Given the description of an element on the screen output the (x, y) to click on. 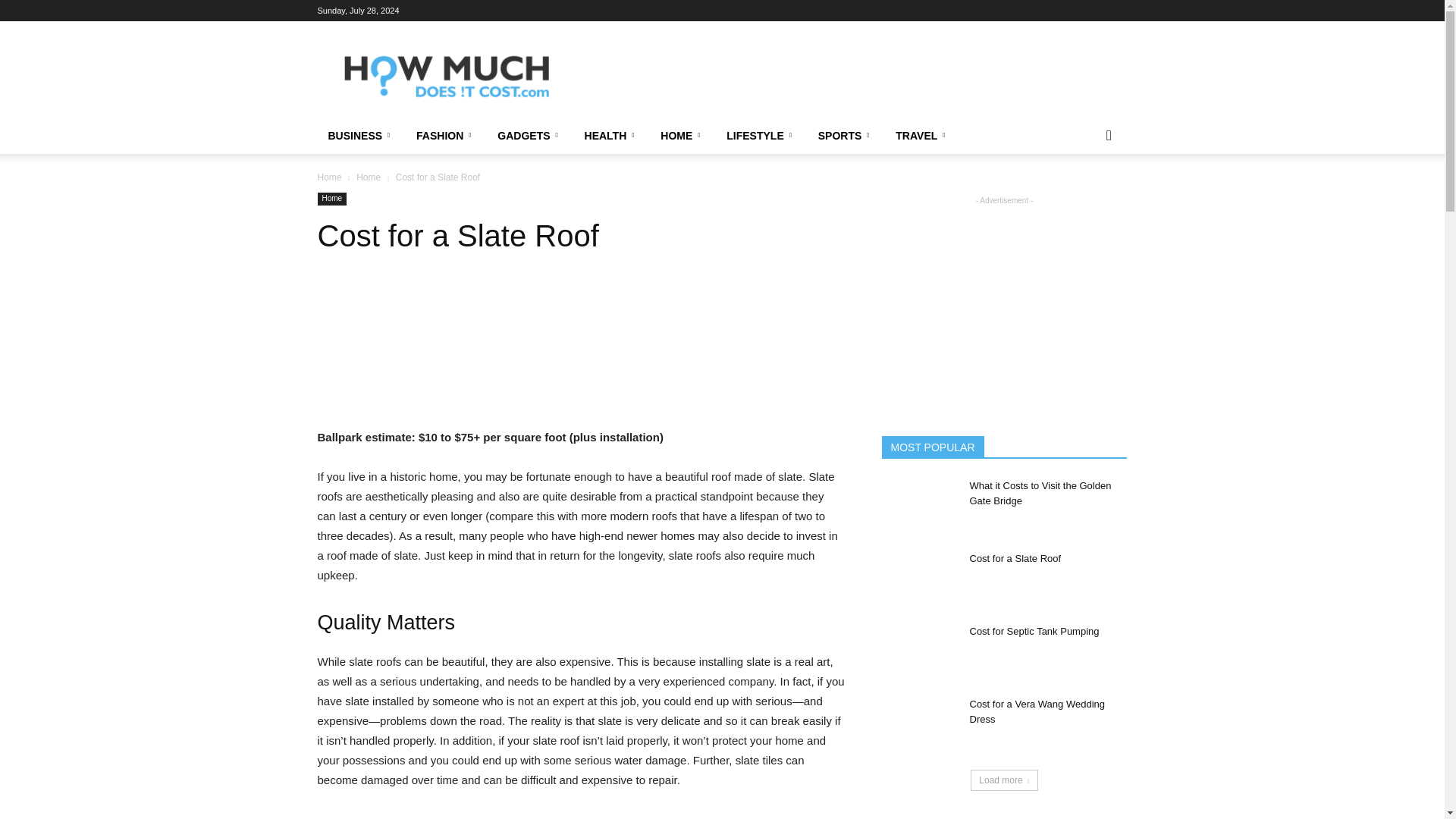
FASHION (446, 135)
BUSINESS (361, 135)
